Given the description of an element on the screen output the (x, y) to click on. 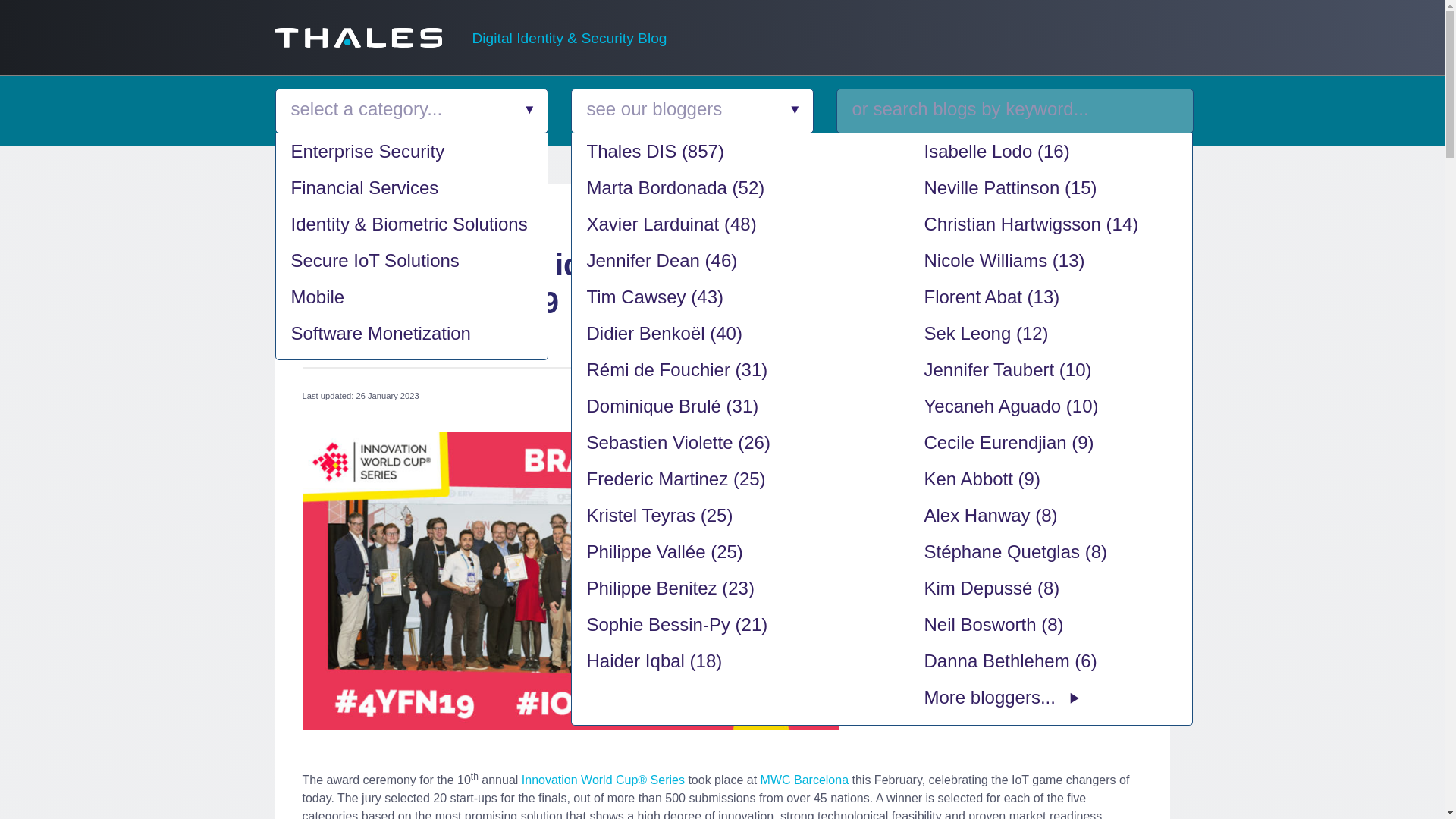
Thales (358, 37)
Posts by Thales DIS (426, 225)
Secure IoT Solutions (411, 260)
Software Monetization (411, 333)
Mobile (411, 297)
Enterprise Security (411, 151)
Thales (358, 42)
Financial Services (411, 187)
